Given the description of an element on the screen output the (x, y) to click on. 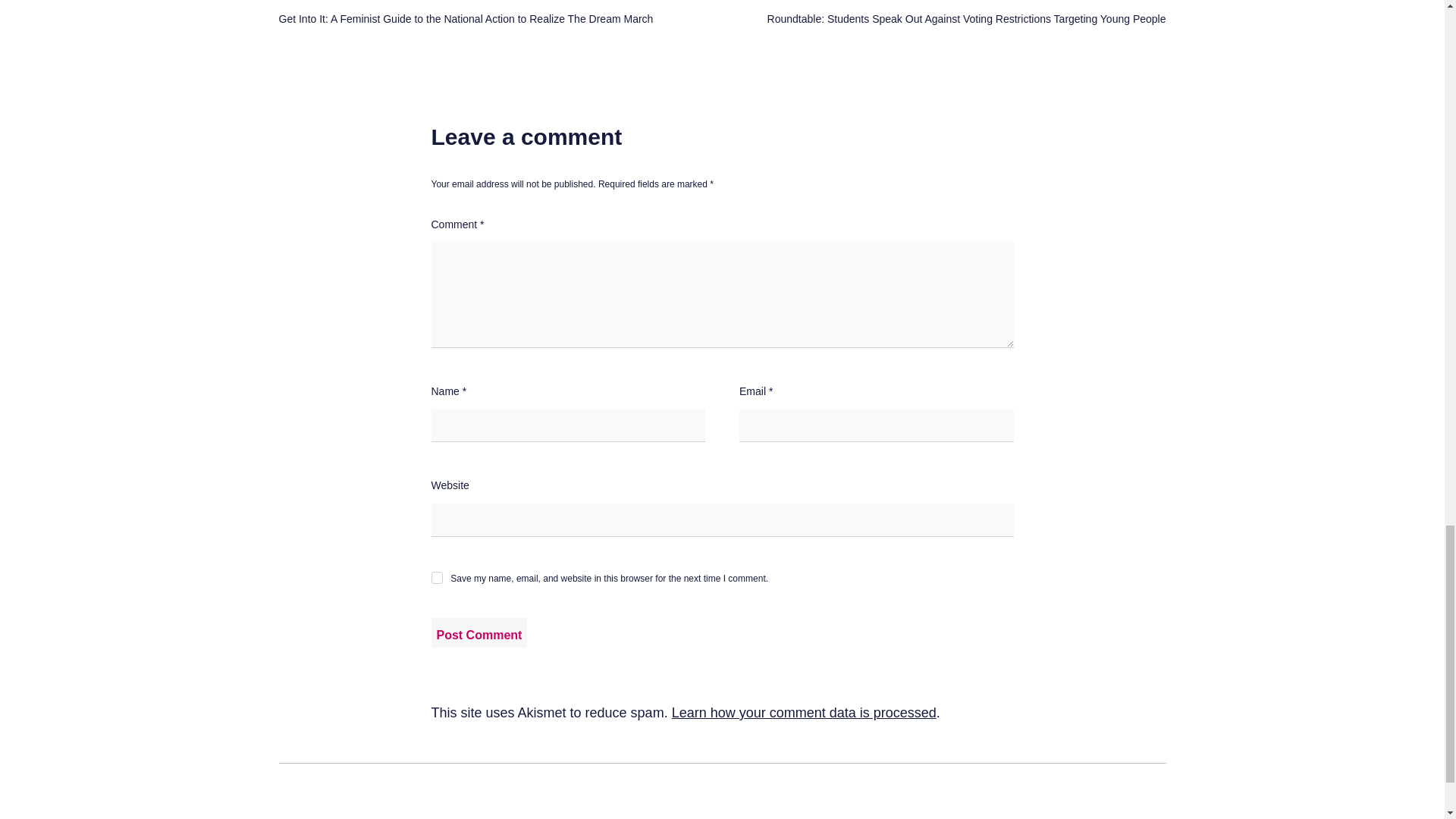
Post Comment (478, 632)
yes (436, 577)
